Given the description of an element on the screen output the (x, y) to click on. 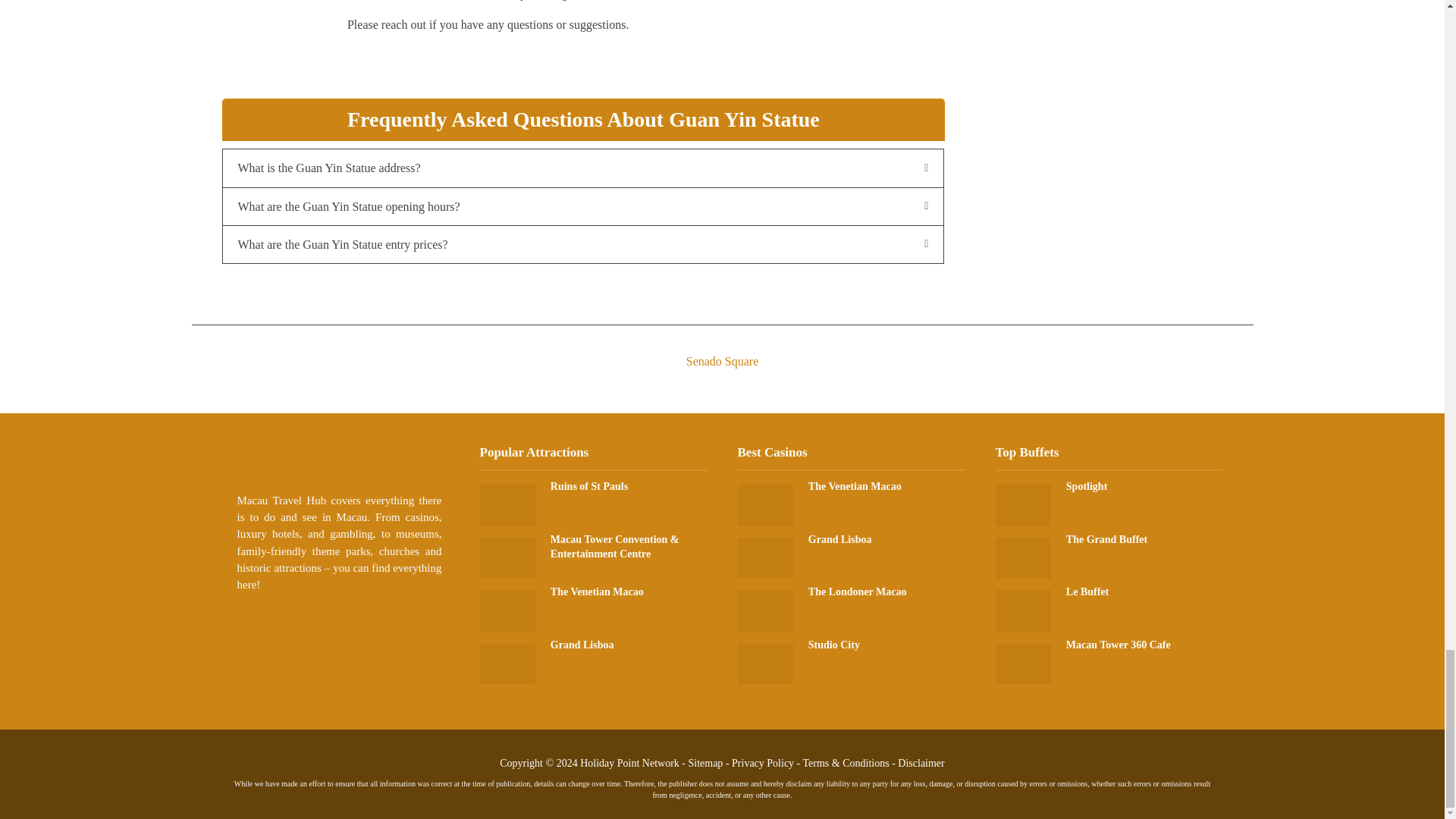
Senado Square (721, 347)
